Given the description of an element on the screen output the (x, y) to click on. 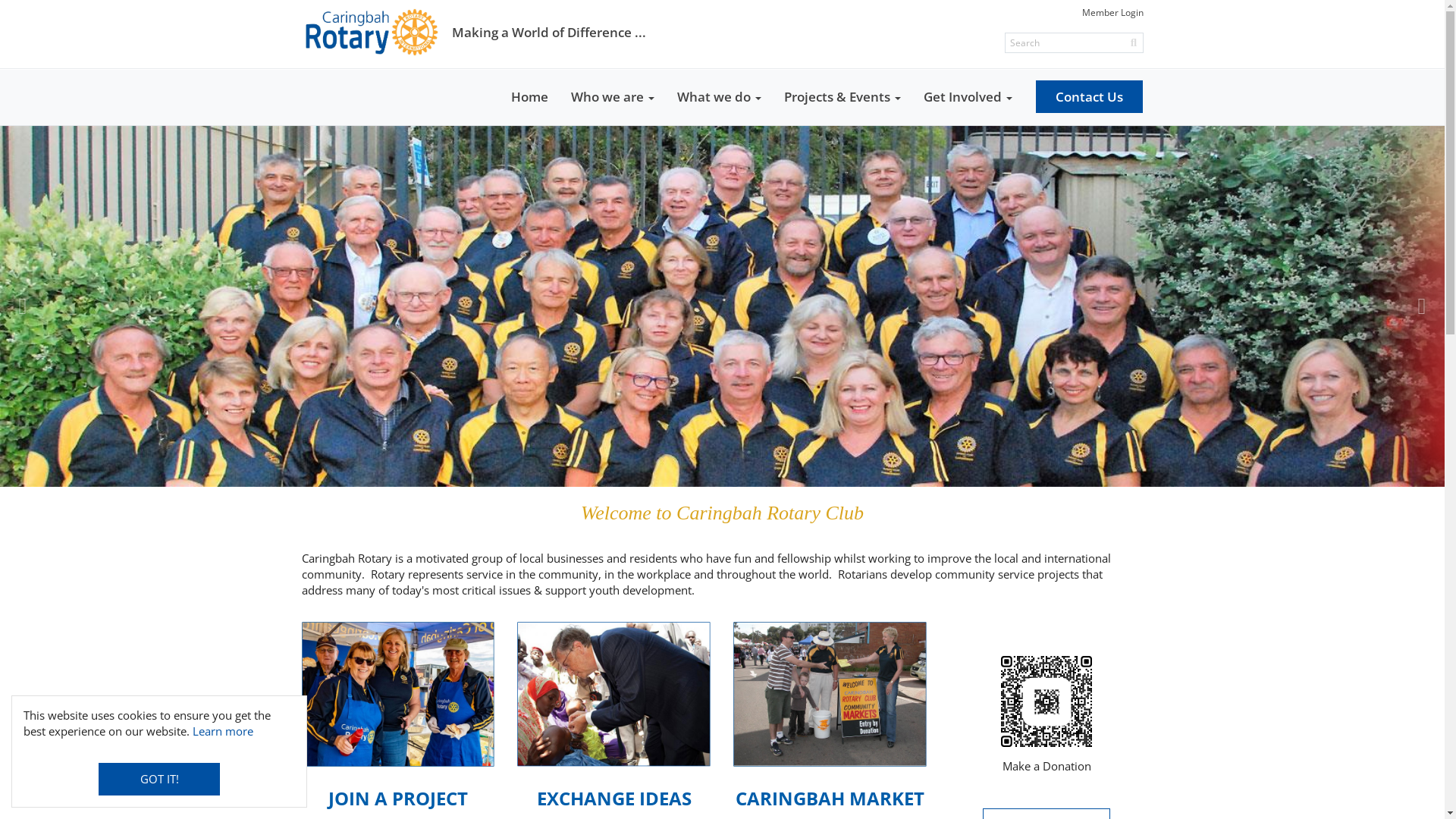
Home Element type: text (528, 96)
Projects & Events Element type: text (841, 96)
GOT IT! Element type: text (158, 778)
What we do Element type: text (718, 96)
Learn more Element type: text (222, 730)
Get Involved Element type: text (966, 96)
Contact Us Element type: text (1088, 96)
Making a World of Difference ... Element type: text (473, 31)
Who we are Element type: text (612, 96)
Member Login Element type: text (1111, 12)
